Given the description of an element on the screen output the (x, y) to click on. 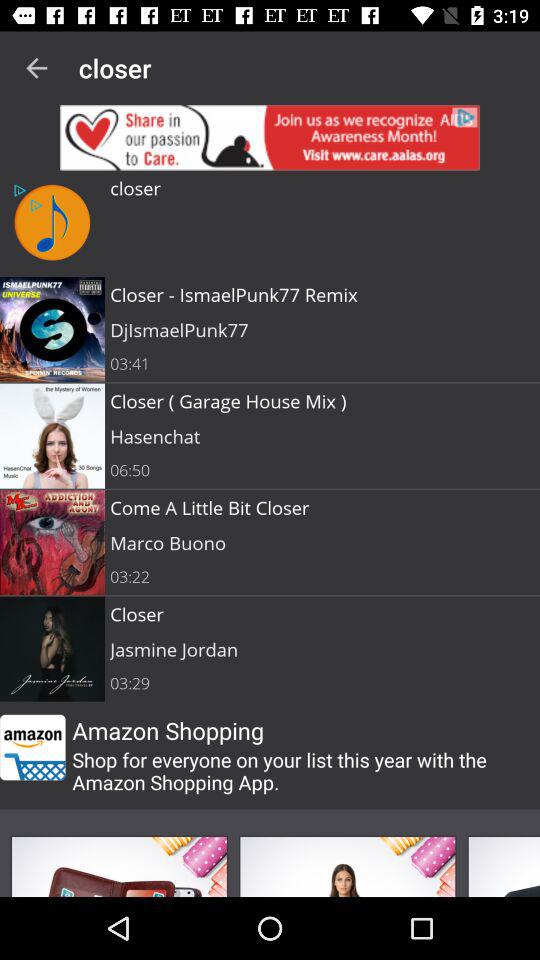
amazon app (32, 747)
